Given the description of an element on the screen output the (x, y) to click on. 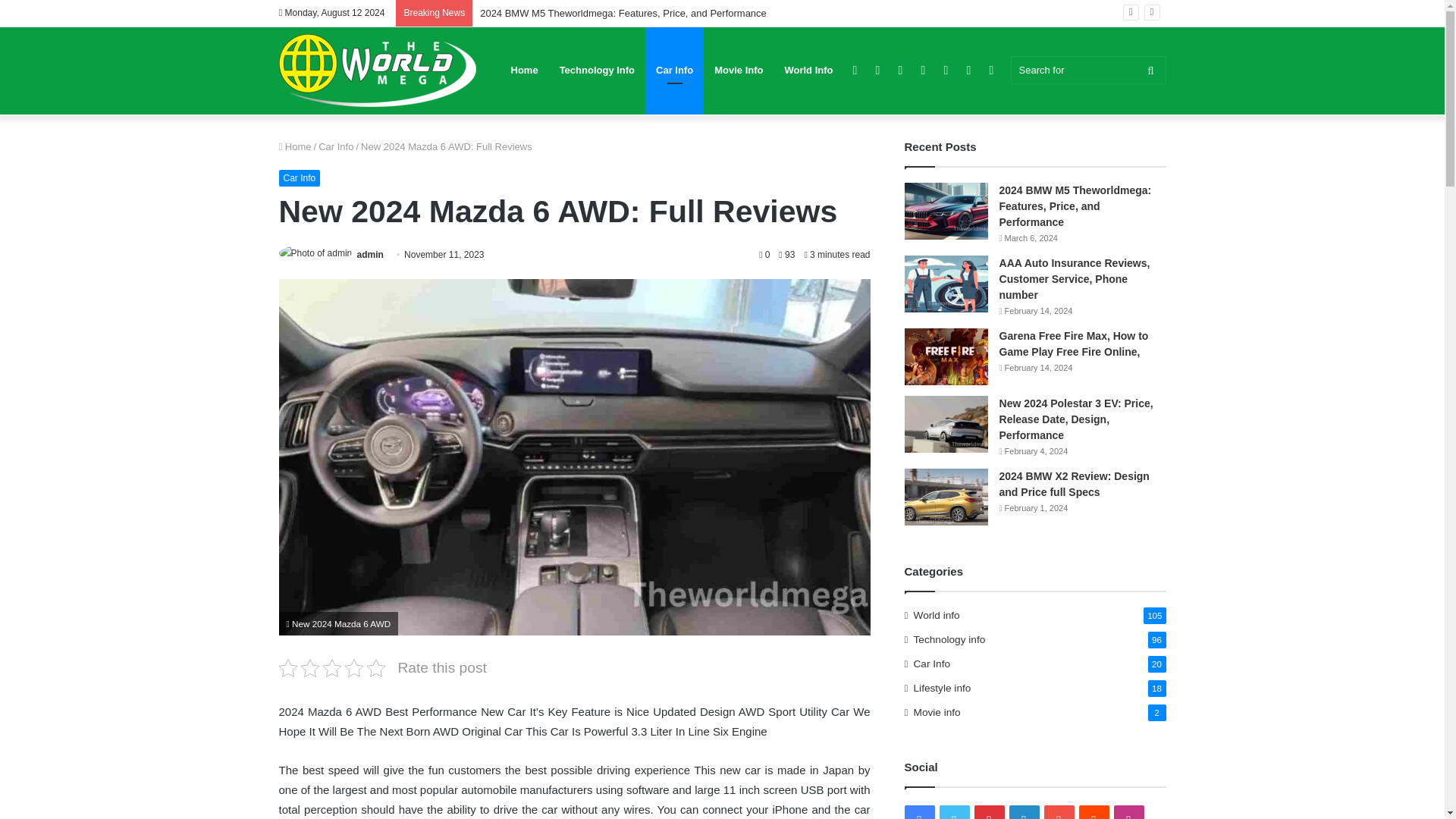
Car Info (299, 177)
Home (295, 146)
Car Info (335, 146)
Search for (1088, 70)
2024 BMW M5 Theworldmega: Features, Price, and Performance (623, 12)
admin (370, 254)
Technology Info (596, 70)
admin (370, 254)
The World Mega (377, 70)
